Given the description of an element on the screen output the (x, y) to click on. 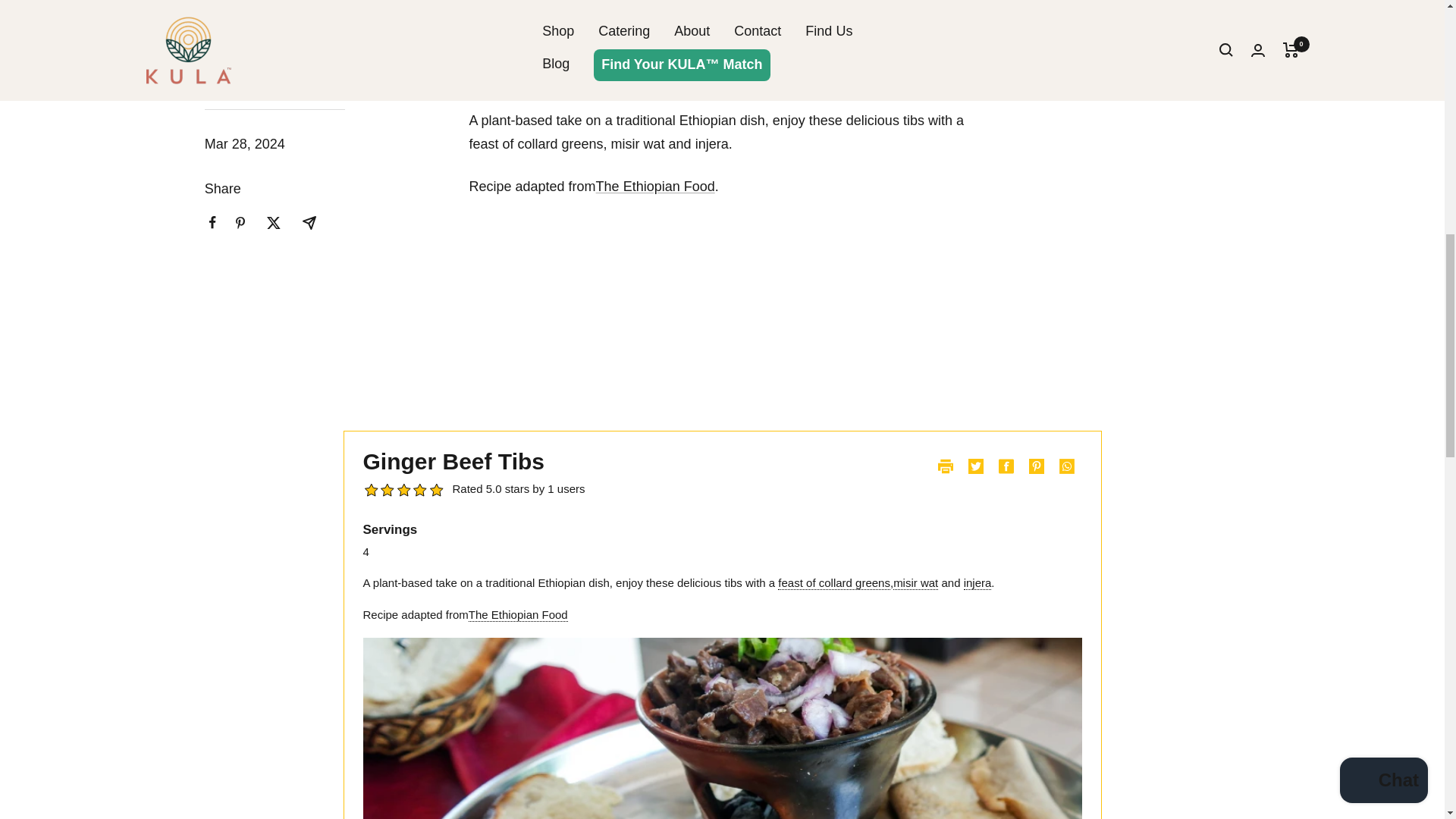
feast of collard greens (833, 582)
misir wat (915, 582)
injera (977, 582)
The Ethiopian Food (654, 186)
